Given the description of an element on the screen output the (x, y) to click on. 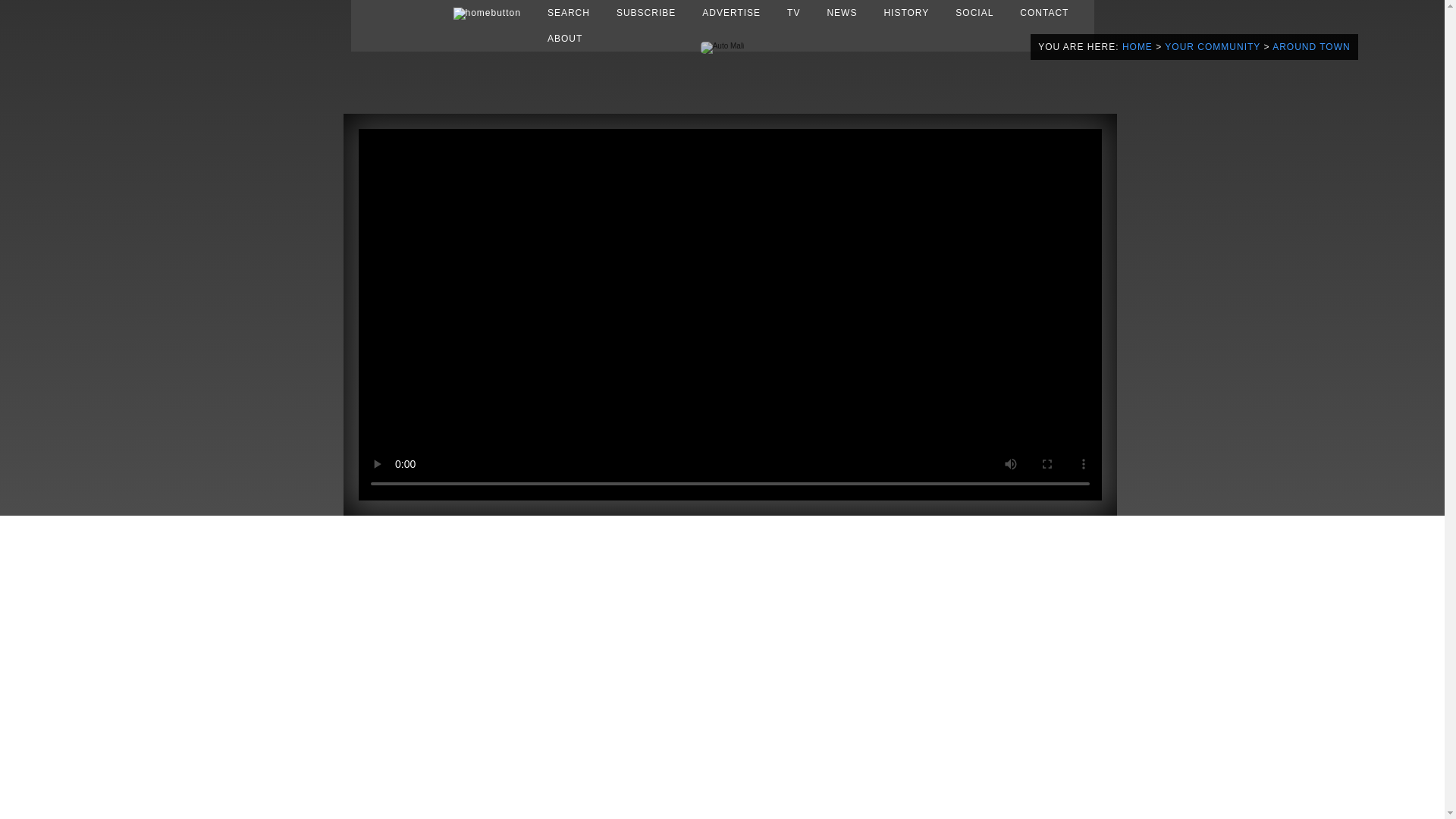
TV (793, 12)
SUBSCRIBE (645, 12)
Auto Mall (722, 45)
NEWS (841, 12)
ADVERTISE (731, 12)
SEARCH (568, 12)
